Given the description of an element on the screen output the (x, y) to click on. 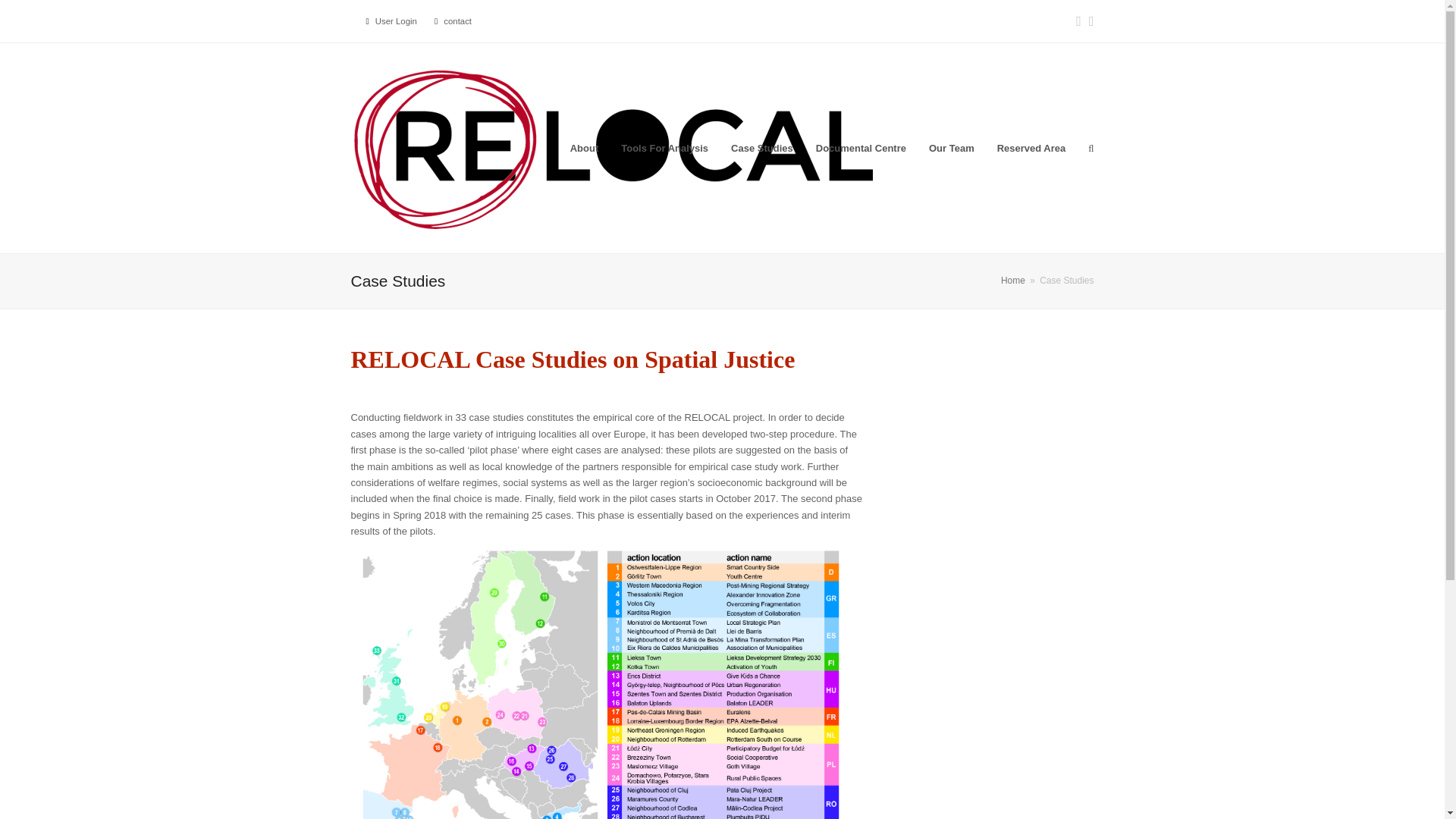
User Login (395, 20)
About (584, 147)
Case Studies (762, 147)
contact (457, 20)
Tools For Analysis (664, 147)
